Given the description of an element on the screen output the (x, y) to click on. 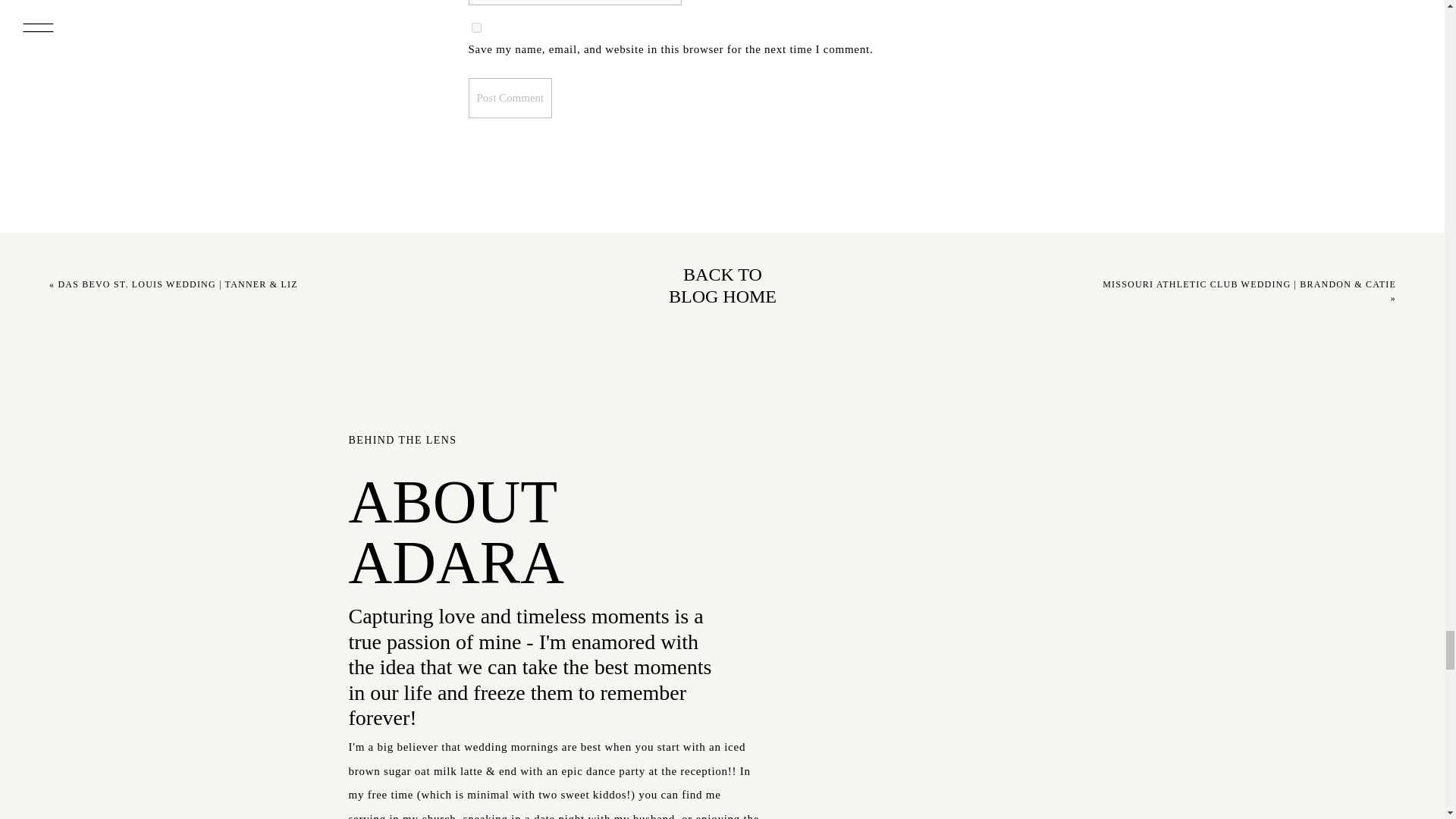
yes (476, 27)
Post Comment (510, 96)
